Given the description of an element on the screen output the (x, y) to click on. 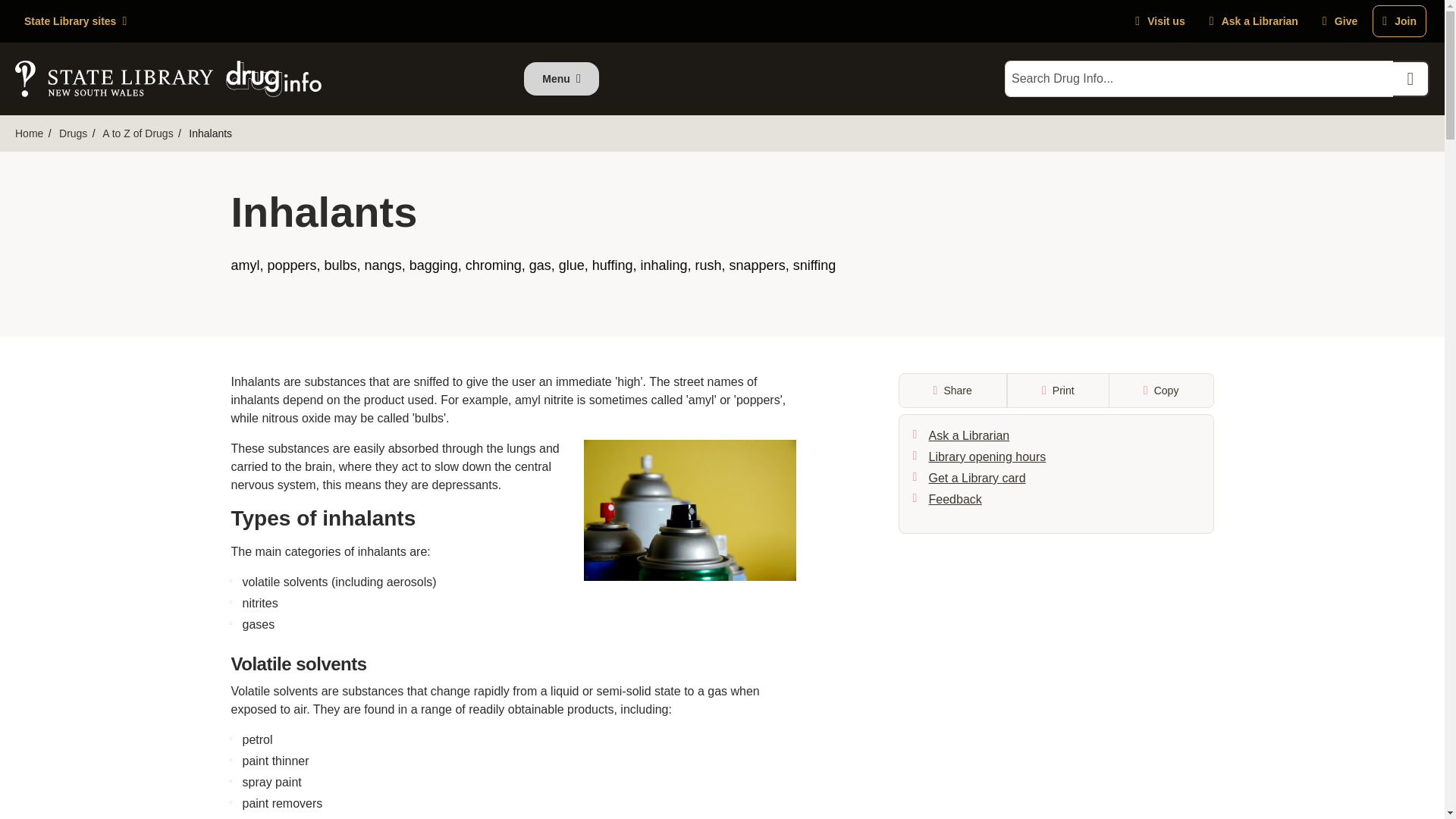
Ask a Librarian (1253, 20)
Enter the terms you wish to search for. (1198, 78)
Menu (561, 78)
Visit us (1159, 20)
Give (1340, 20)
State Library sites (74, 21)
Join (1399, 20)
